Given the description of an element on the screen output the (x, y) to click on. 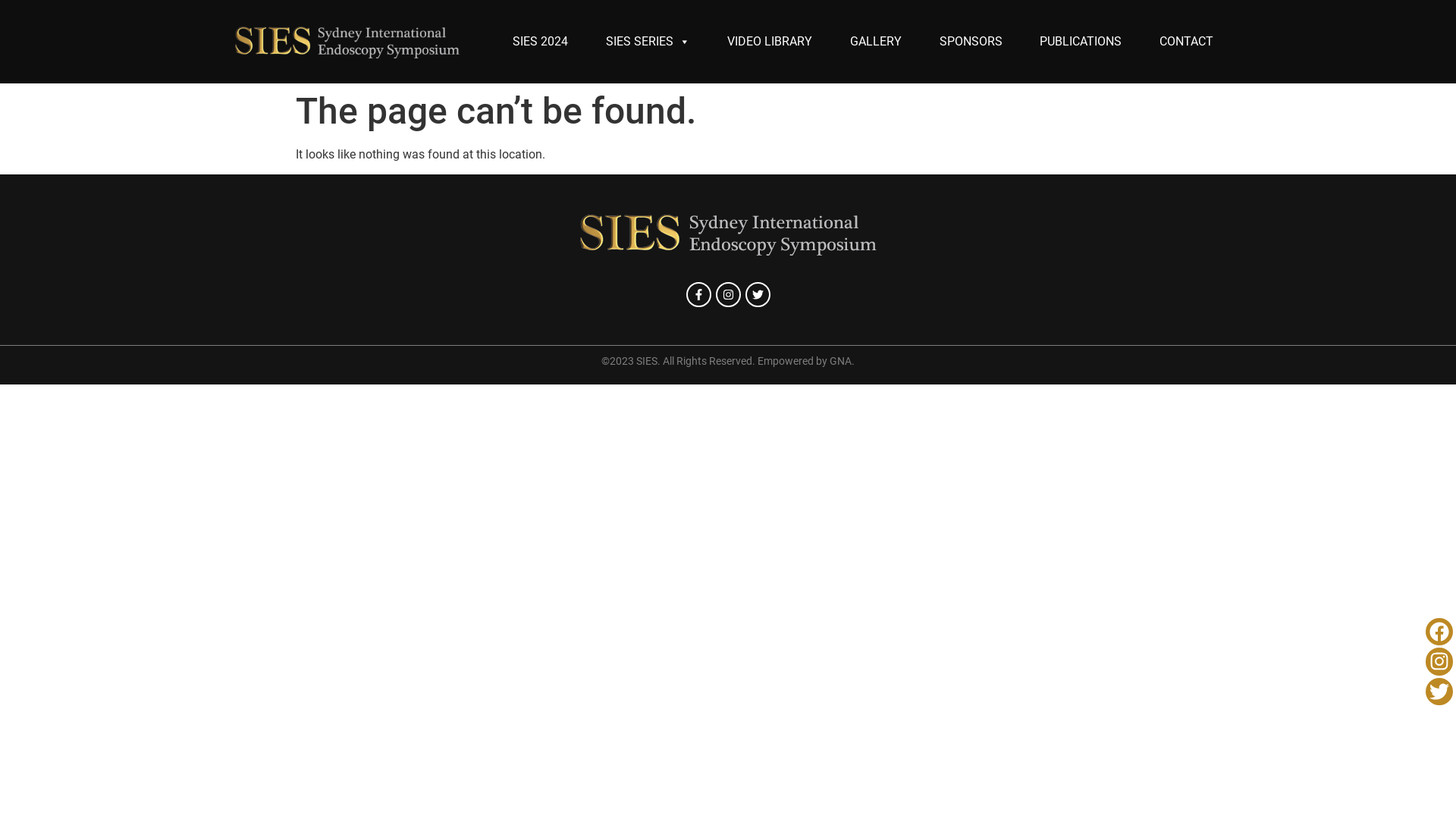
SIES 2024 Element type: text (540, 41)
PUBLICATIONS Element type: text (1080, 41)
GALLERY Element type: text (875, 41)
GNA Element type: text (840, 360)
CONTACT Element type: text (1185, 41)
SIES SERIES Element type: text (647, 41)
SPONSORS Element type: text (970, 41)
VIDEO LIBRARY Element type: text (769, 41)
